Given the description of an element on the screen output the (x, y) to click on. 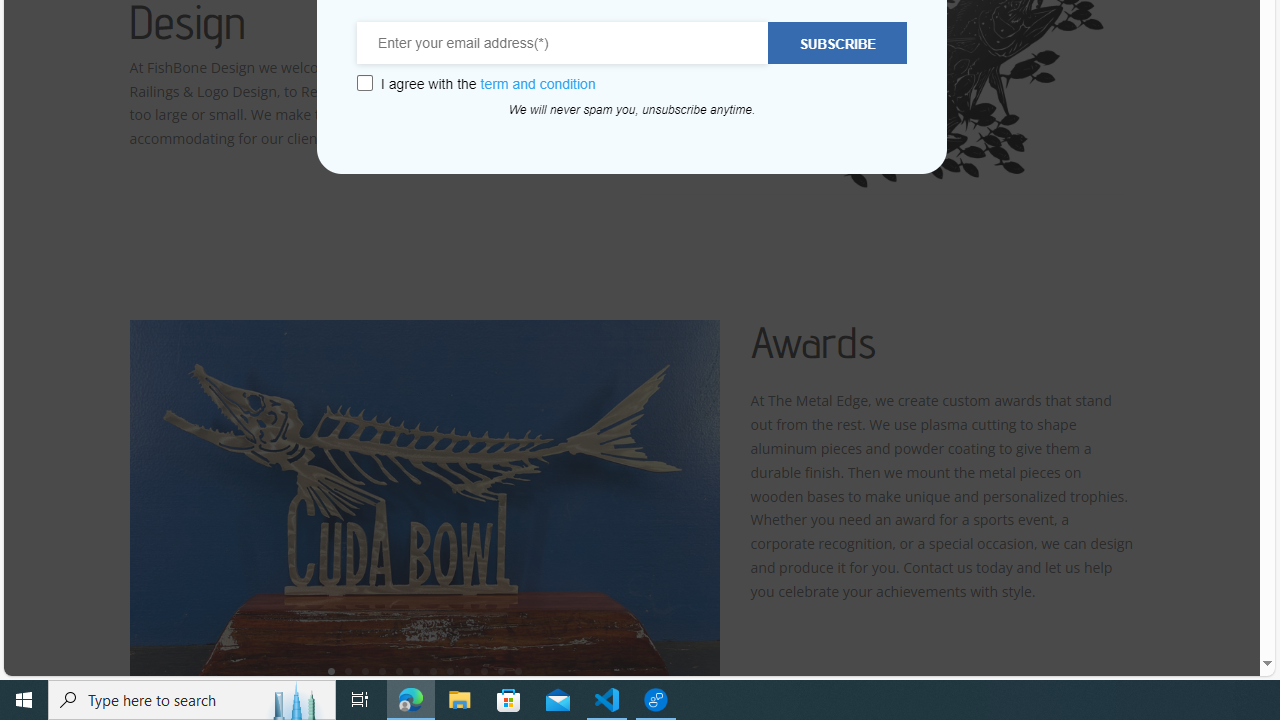
10 (484, 670)
2 (348, 670)
11 (501, 670)
5 (399, 670)
8 (450, 670)
12 (518, 670)
Class: wcb-gdpr-checkbox (364, 83)
6 (416, 670)
7 (433, 670)
9 (467, 670)
3 (365, 670)
Enter your email address(*) (563, 43)
term and condition (538, 84)
4 (382, 670)
1 (331, 670)
